Given the description of an element on the screen output the (x, y) to click on. 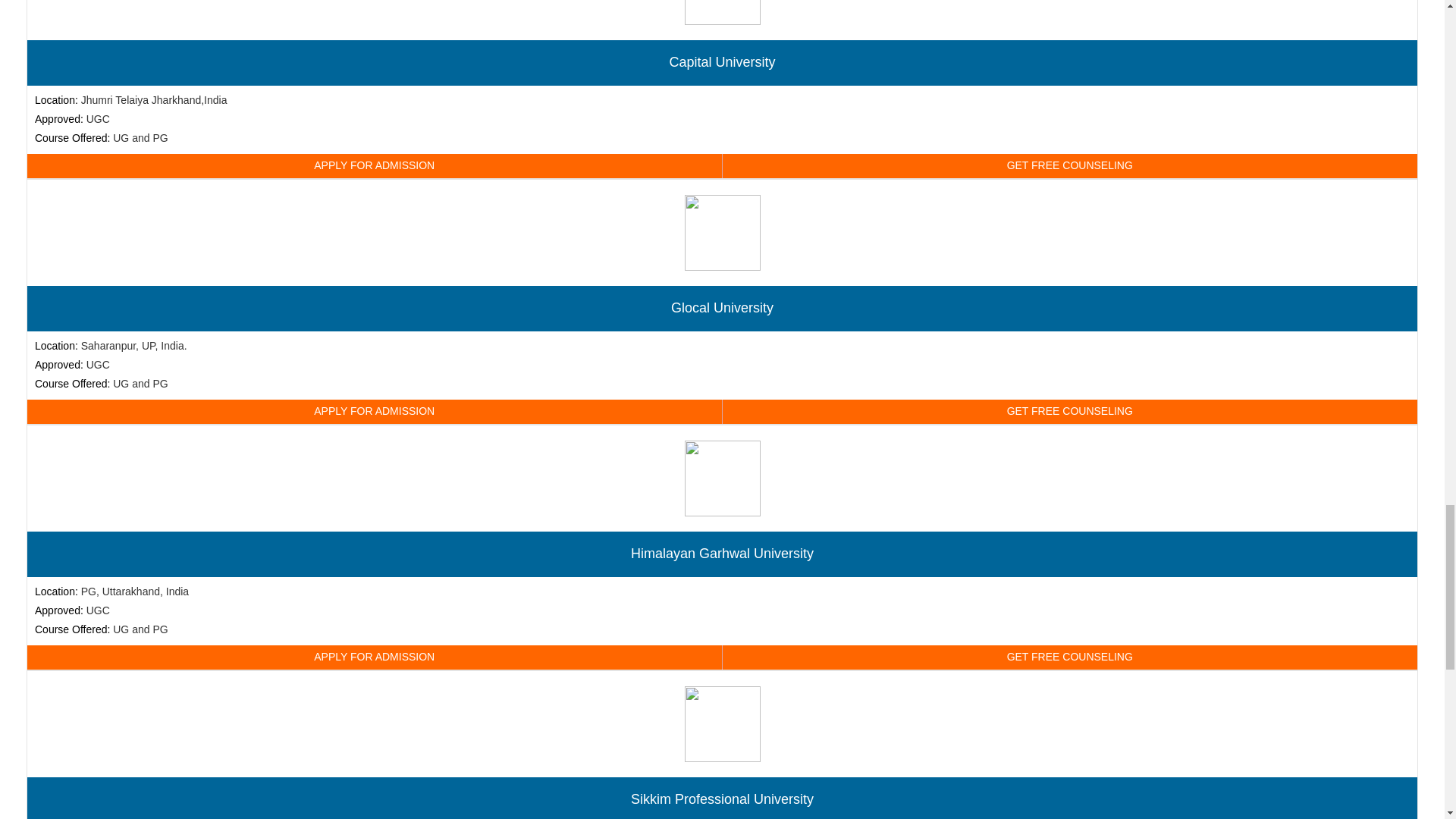
APPLY FOR ADMISSION (374, 165)
APPLY FOR ADMISSION (374, 657)
APPLY FOR ADMISSION (374, 411)
GET FREE COUNSELING (1069, 411)
GET FREE COUNSELING (1069, 165)
GET FREE COUNSELING (1069, 657)
